Given the description of an element on the screen output the (x, y) to click on. 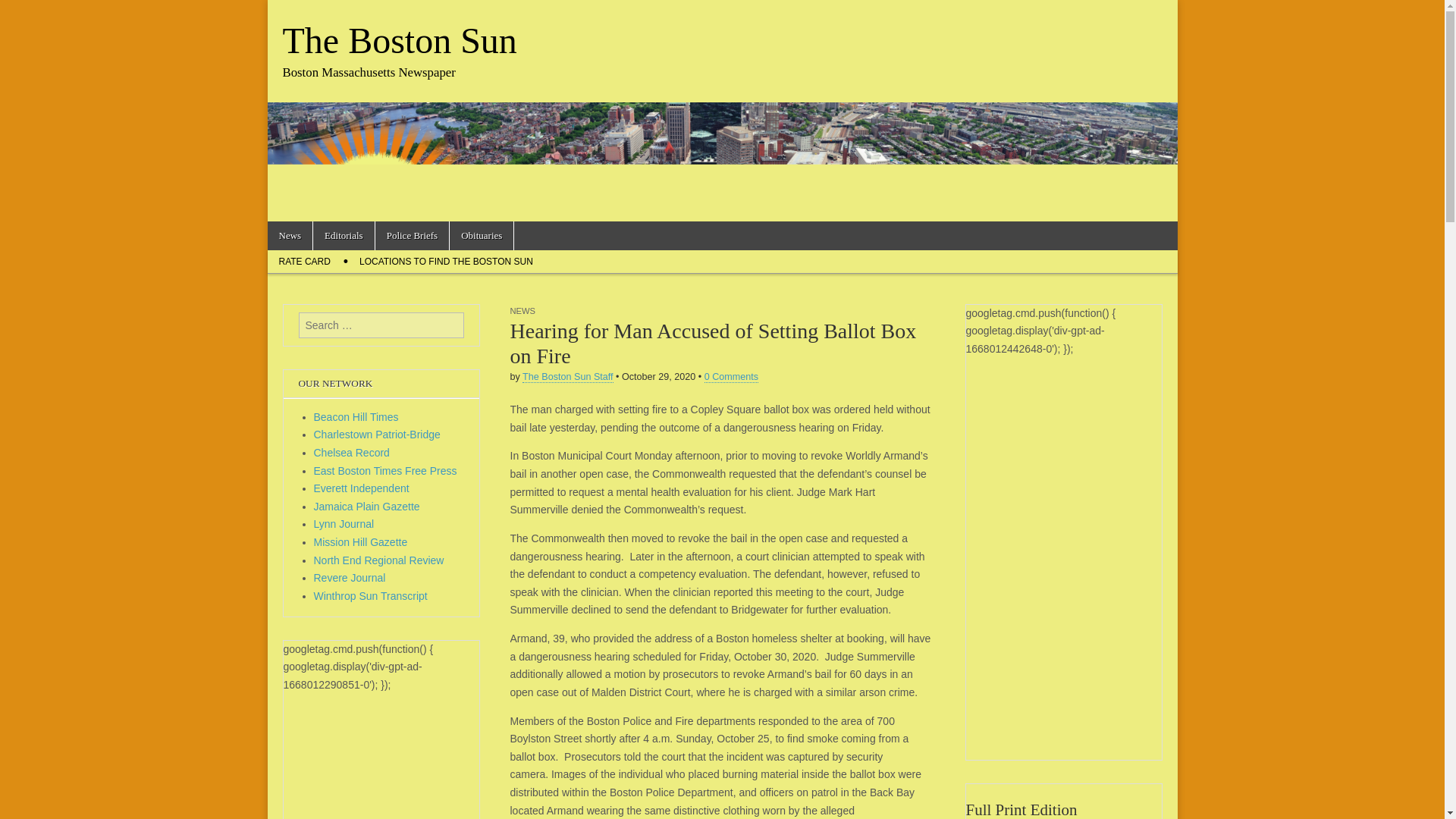
NEWS (522, 310)
Charlestown Patriot-Bridge (377, 434)
The Boston Sun (399, 40)
Mission Hill Gazette (360, 541)
LOCATIONS TO FIND THE BOSTON SUN (445, 261)
Winthrop Sun Transcript (371, 595)
Obituaries (481, 235)
Everett Independent (361, 488)
Chelsea Record (352, 452)
Posts by The Boston Sun Staff (567, 377)
The Boston Sun (399, 40)
News (289, 235)
